Given the description of an element on the screen output the (x, y) to click on. 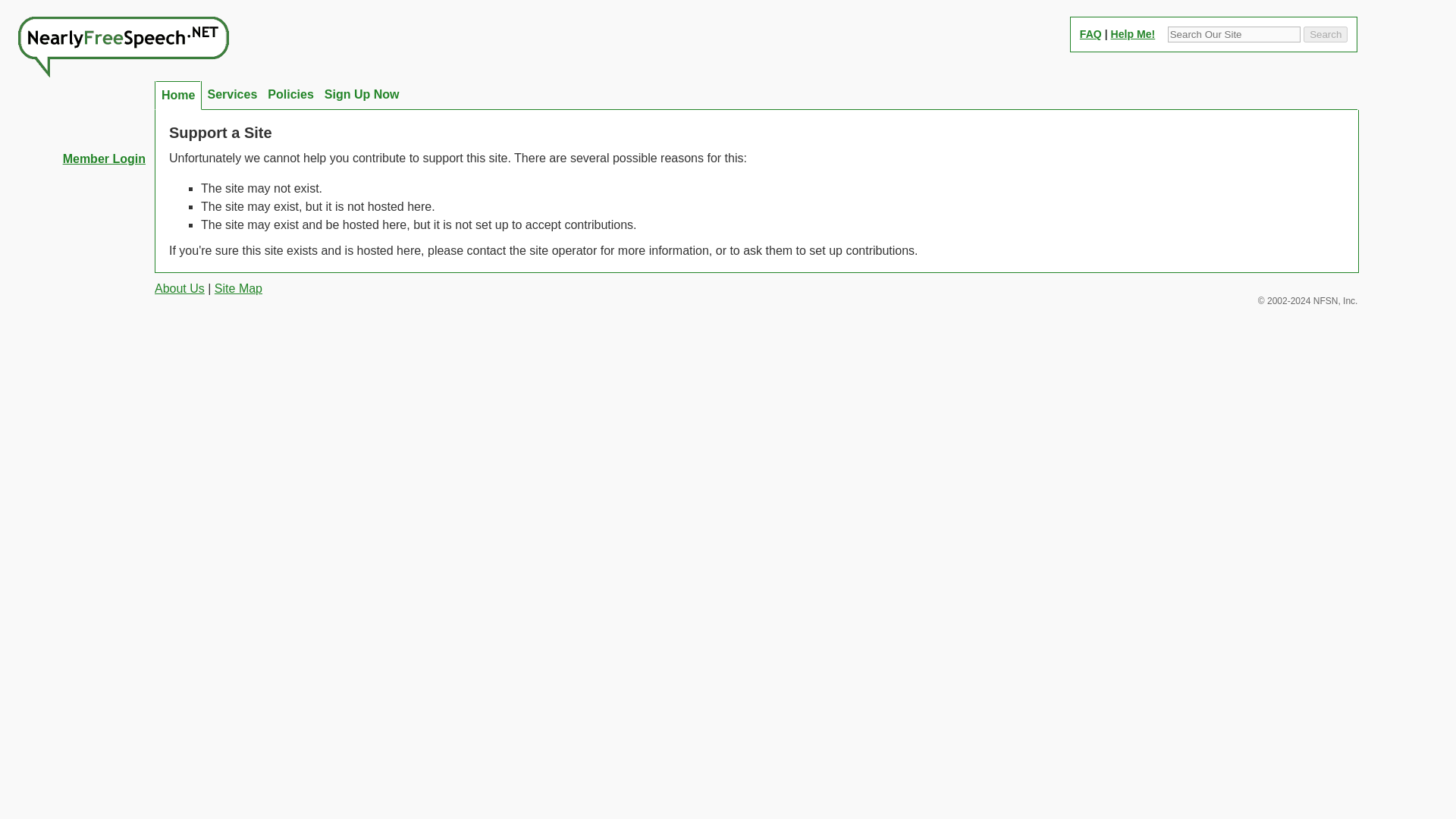
Policies (290, 94)
Services (232, 94)
FAQ (1091, 33)
Member Login (77, 158)
Sign Up Now (361, 94)
Policies (290, 94)
Search (1325, 34)
About Us (179, 287)
Home (177, 95)
Services (232, 94)
